Given the description of an element on the screen output the (x, y) to click on. 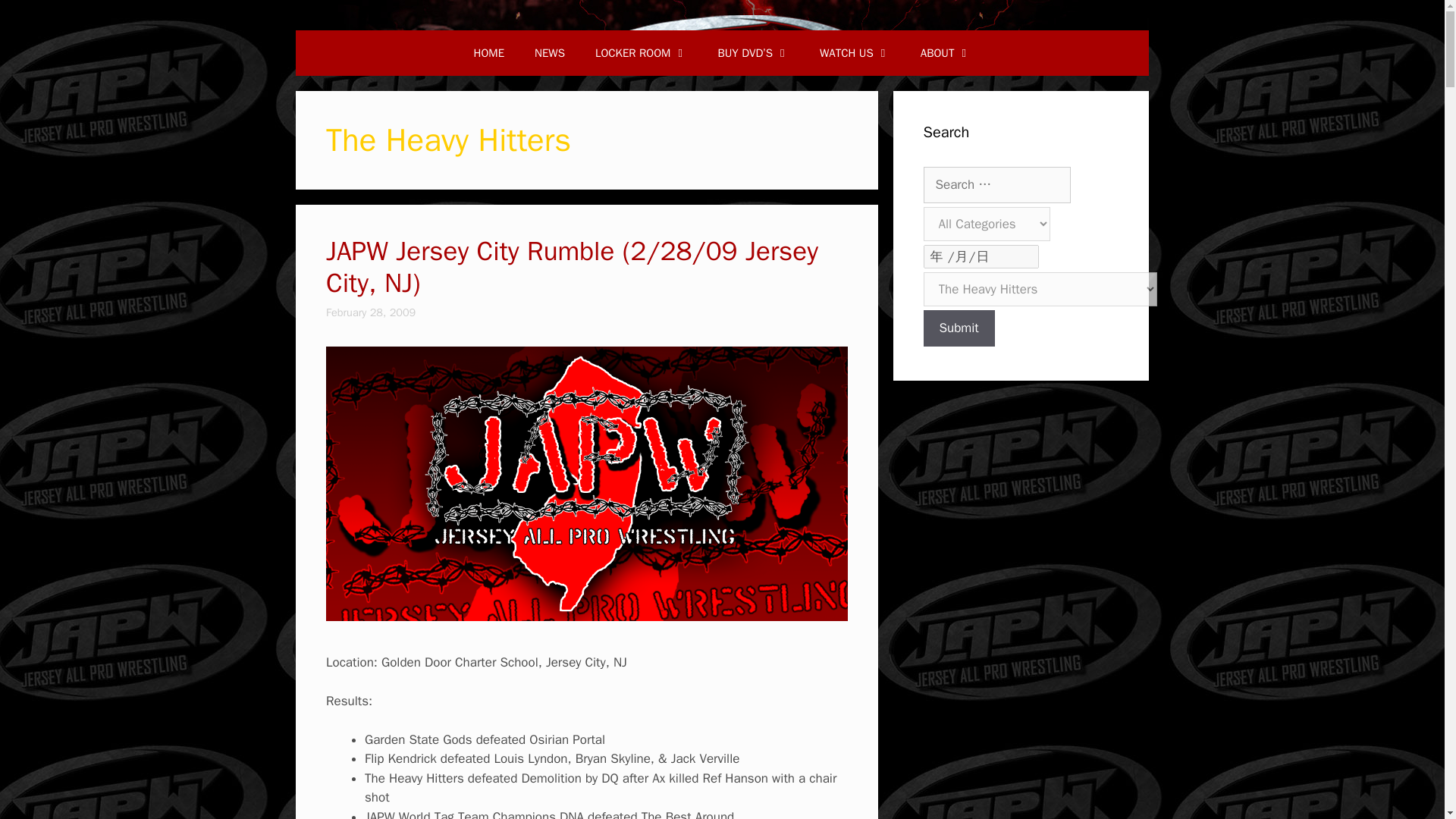
HOME (488, 53)
NEWS (549, 53)
ABOUT (946, 53)
WATCH US (855, 53)
LOCKER ROOM (641, 53)
Submit (958, 328)
